Given the description of an element on the screen output the (x, y) to click on. 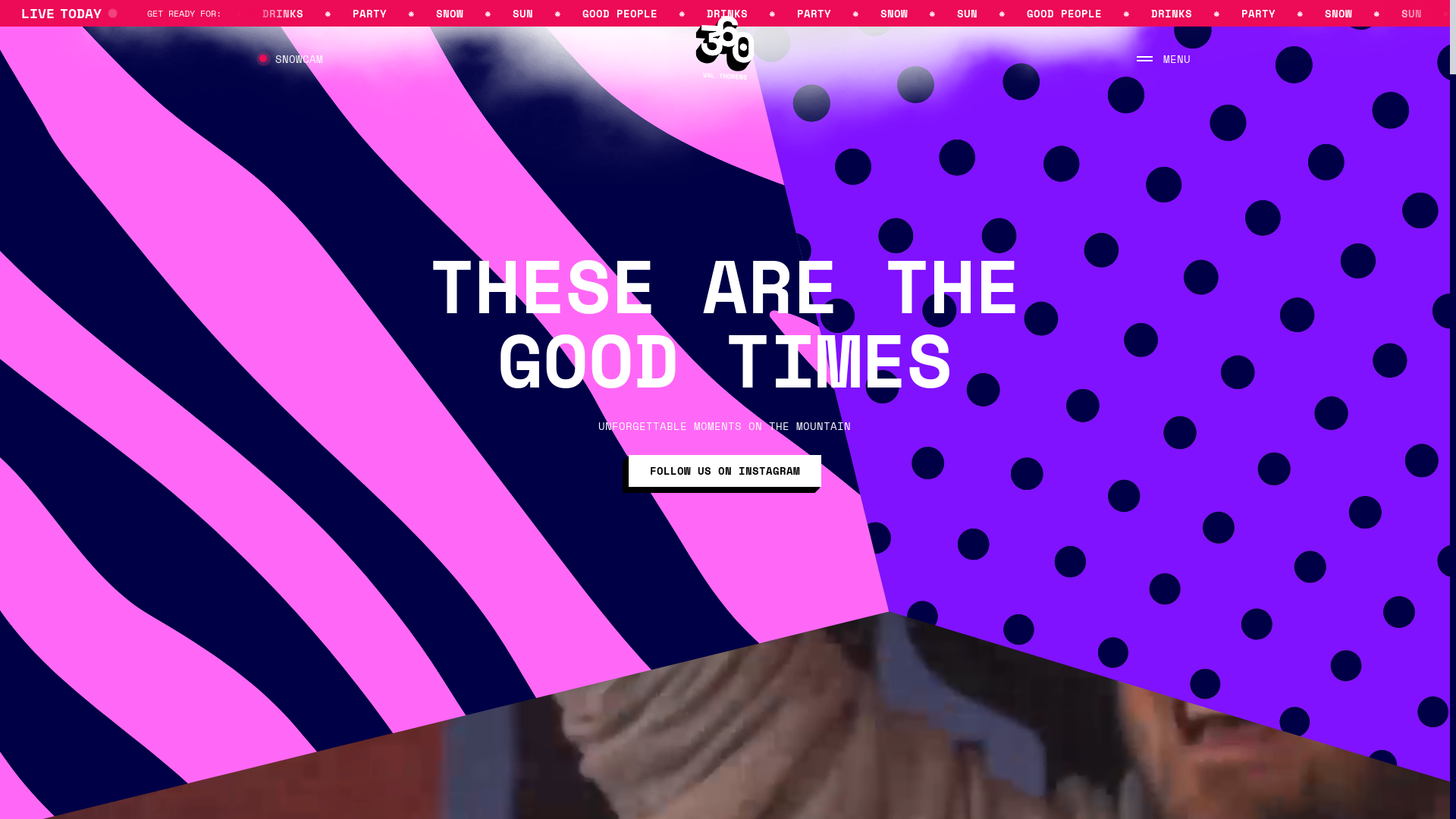
MENU Element type: text (1163, 58)
FOLLOW US ON INSTAGRAM Element type: text (724, 470)
SNOWCAM Element type: text (291, 57)
